Given the description of an element on the screen output the (x, y) to click on. 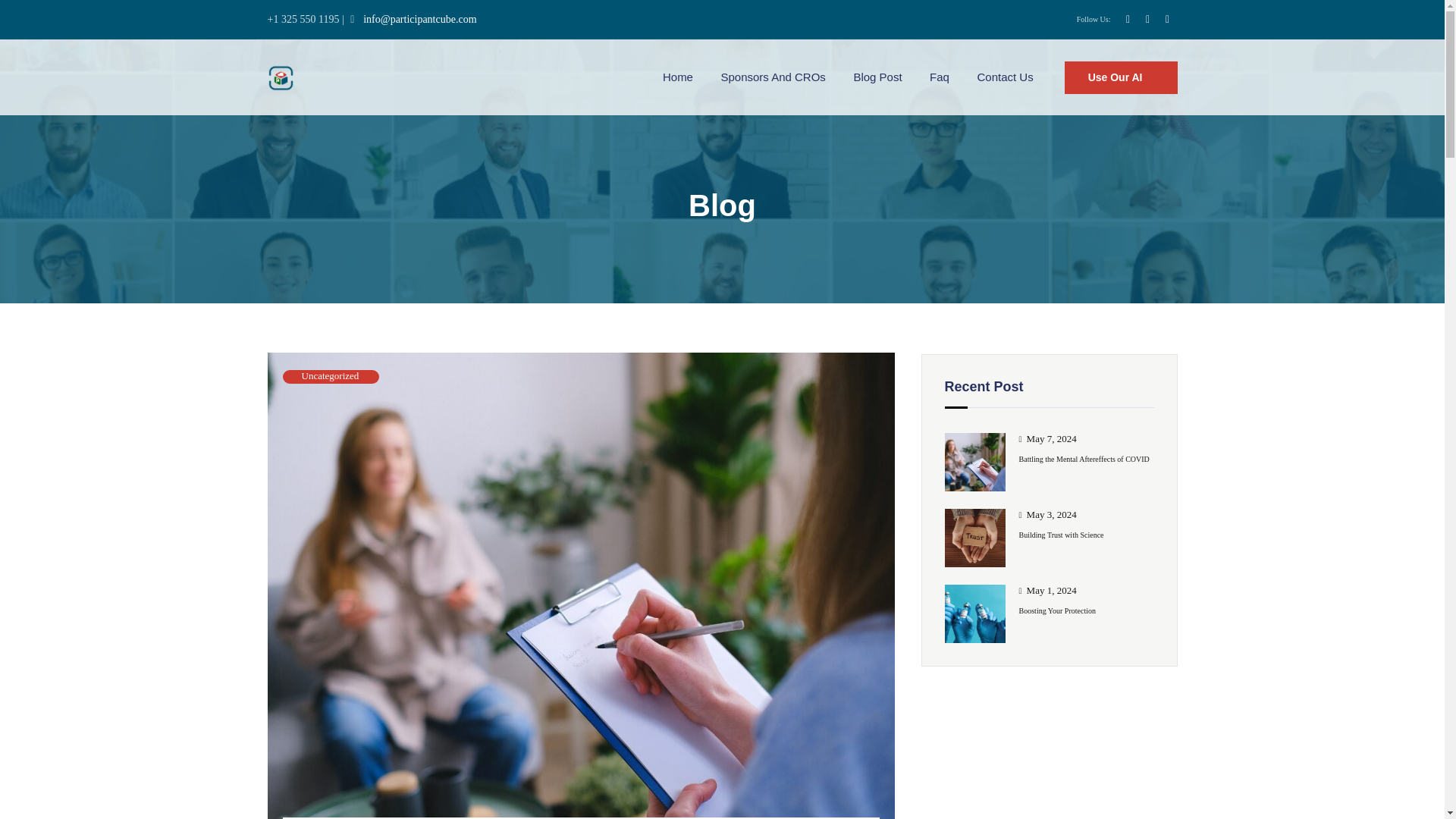
Blog Post (877, 77)
Contact Us (1004, 77)
Uncategorized (330, 375)
Use Our AI (1120, 77)
Boosting Your Protection (1049, 610)
Sponsors And CROs (772, 77)
Battling the Mental Aftereffects of COVID (1049, 458)
Building Trust with Science (1049, 534)
